Given the description of an element on the screen output the (x, y) to click on. 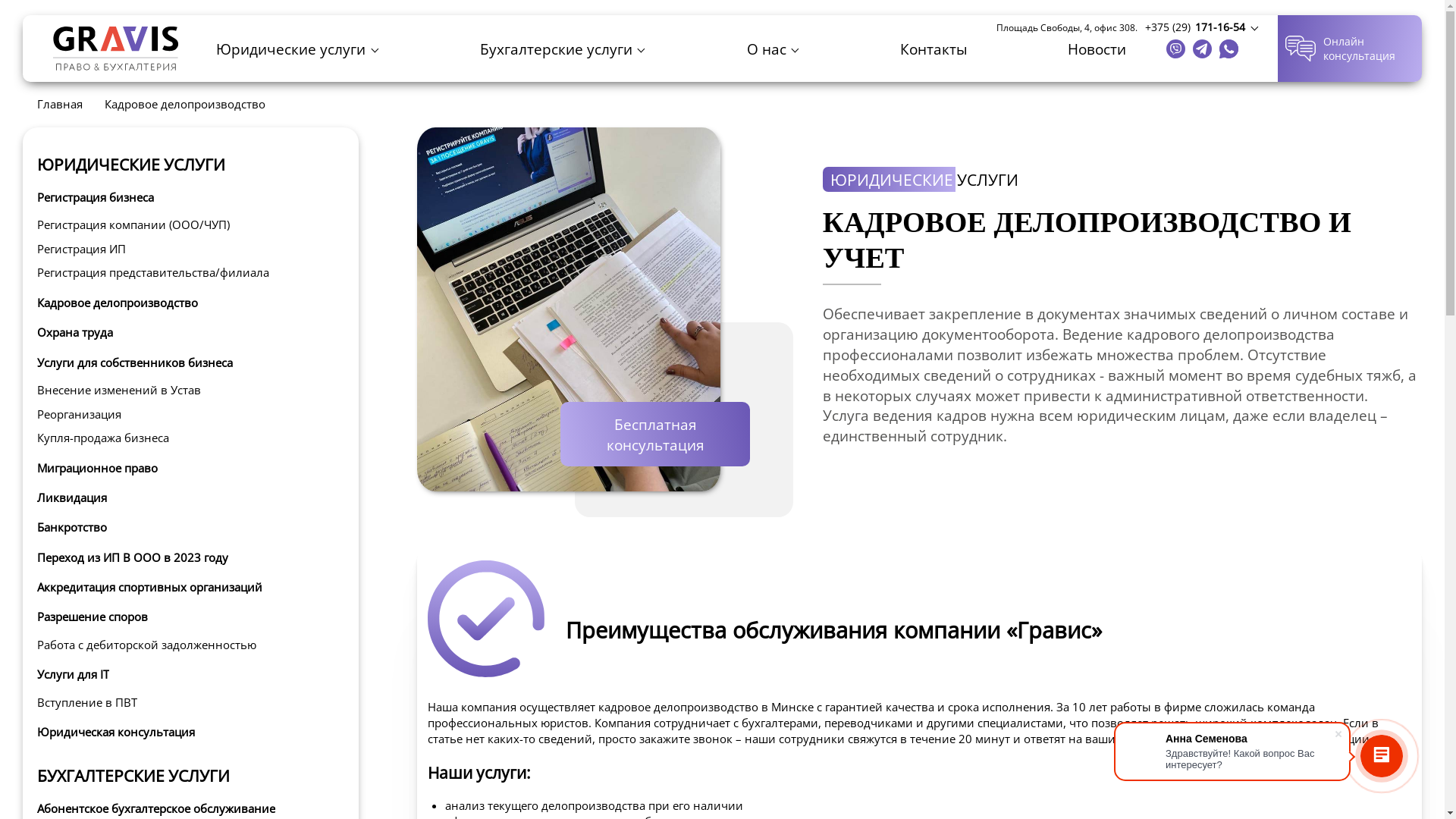
+375 (29)
171-16-54 Element type: text (1201, 26)
